Given the description of an element on the screen output the (x, y) to click on. 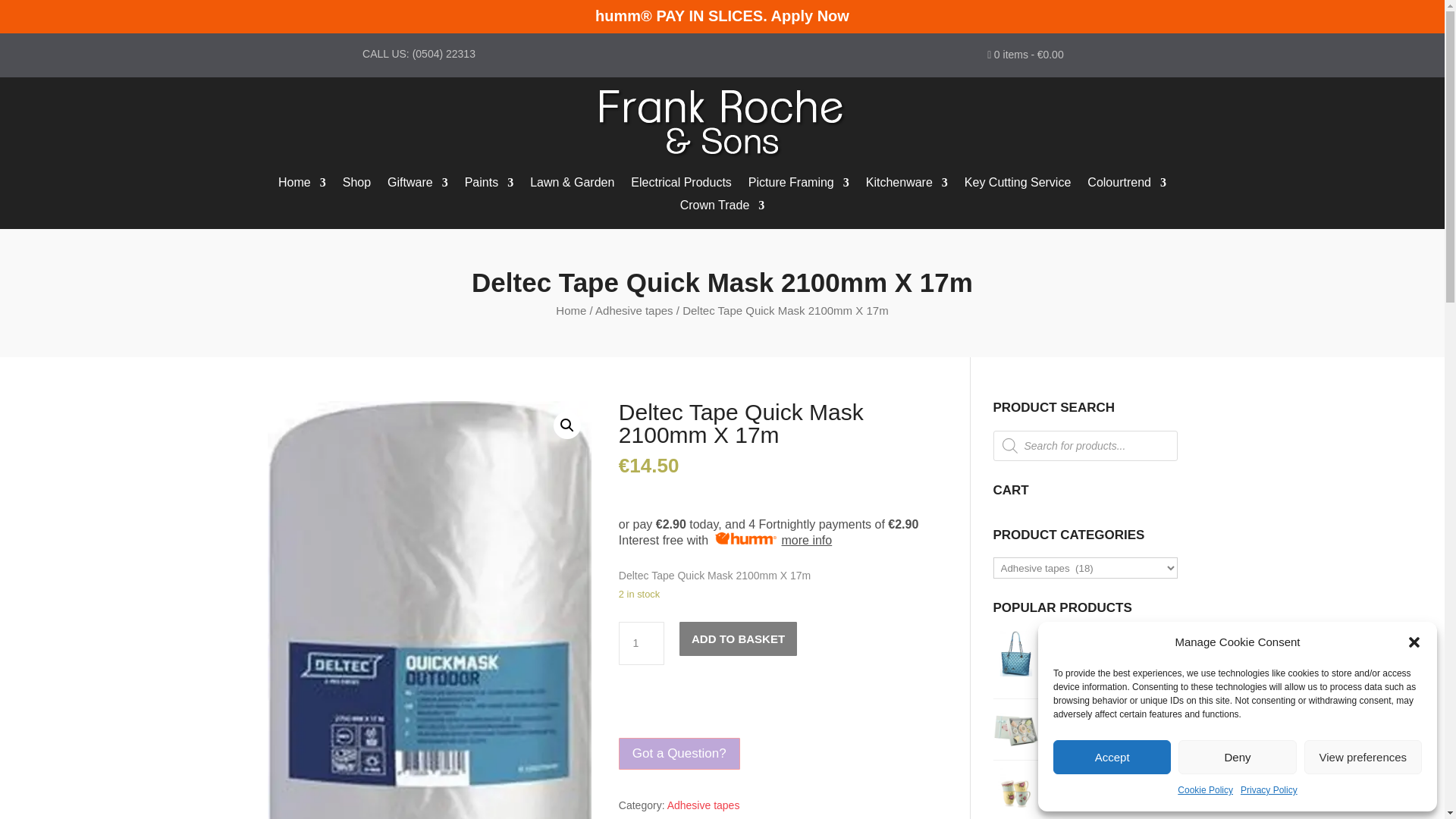
Got a Question? (678, 753)
View preferences (1363, 756)
Giftware (417, 185)
Home (302, 185)
Start shopping (1024, 58)
Deny (1236, 756)
Cookie Policy (1205, 791)
Shop (356, 185)
1 (640, 643)
Accept (1111, 756)
Privacy Policy (1268, 791)
PayPal (780, 711)
Logo (721, 123)
Apply Now (809, 15)
